Given the description of an element on the screen output the (x, y) to click on. 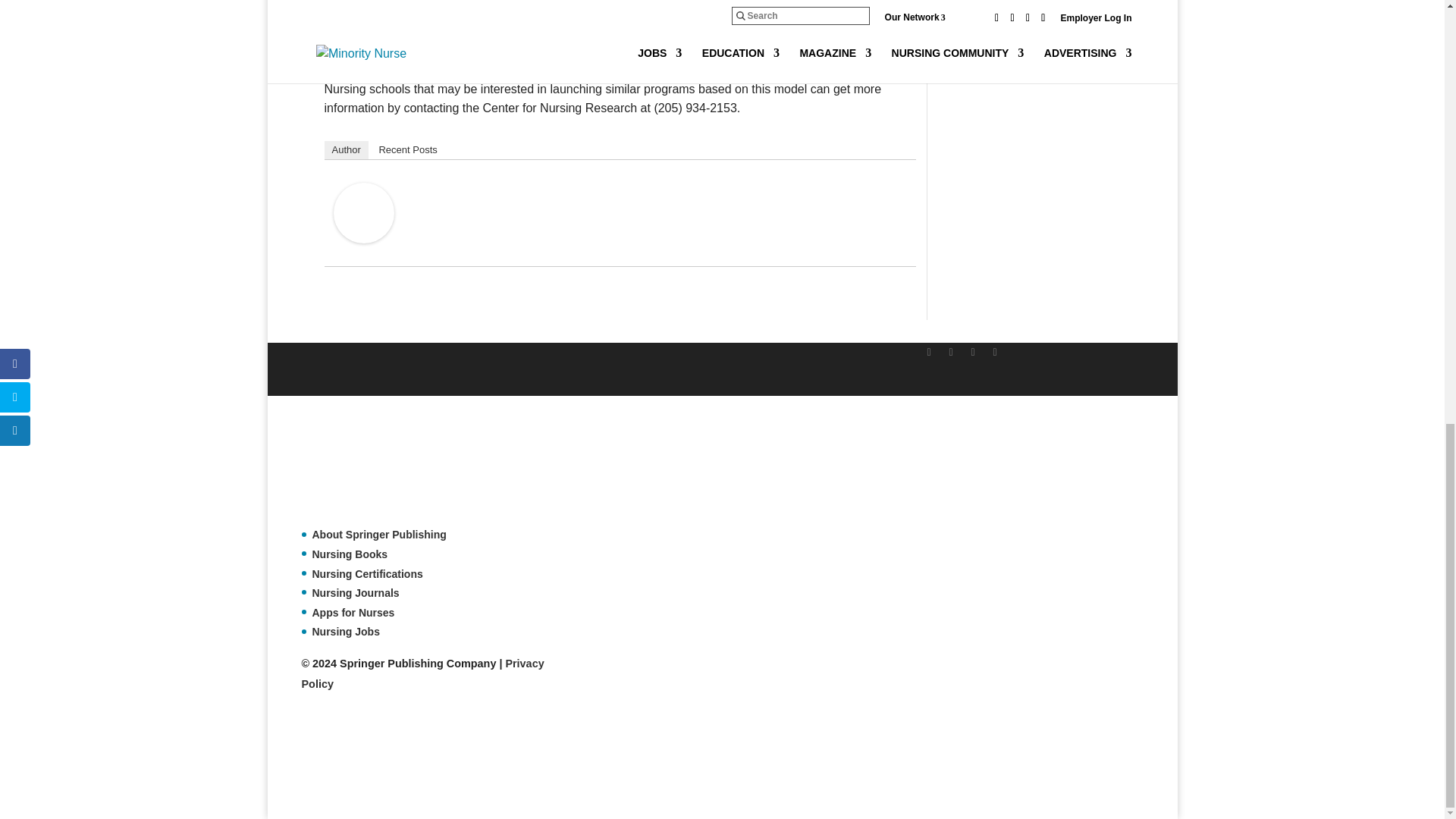
3rd party ad content (577, 762)
Springer Publishing Company (376, 468)
